Given the description of an element on the screen output the (x, y) to click on. 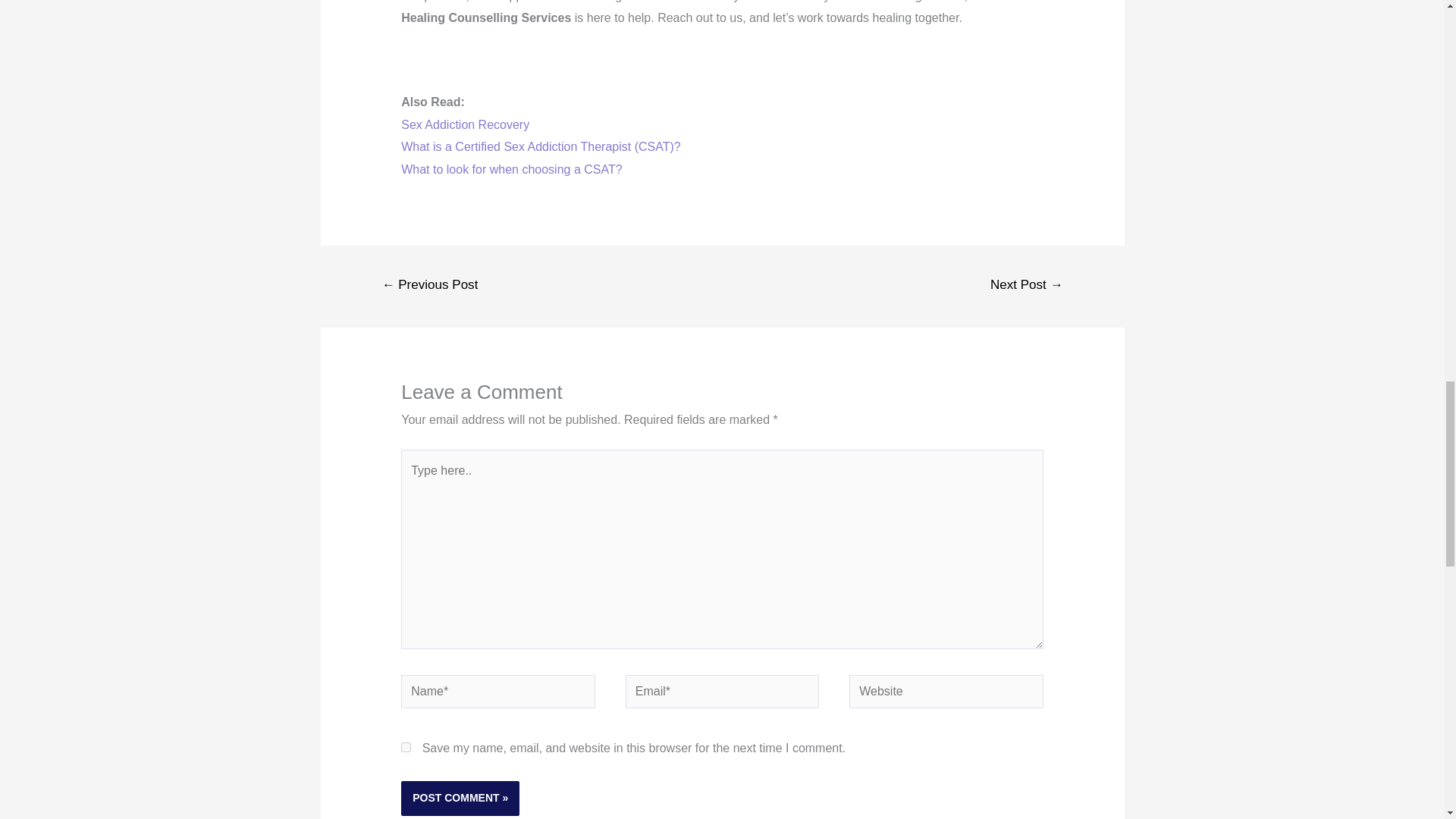
yes (405, 747)
